Given the description of an element on the screen output the (x, y) to click on. 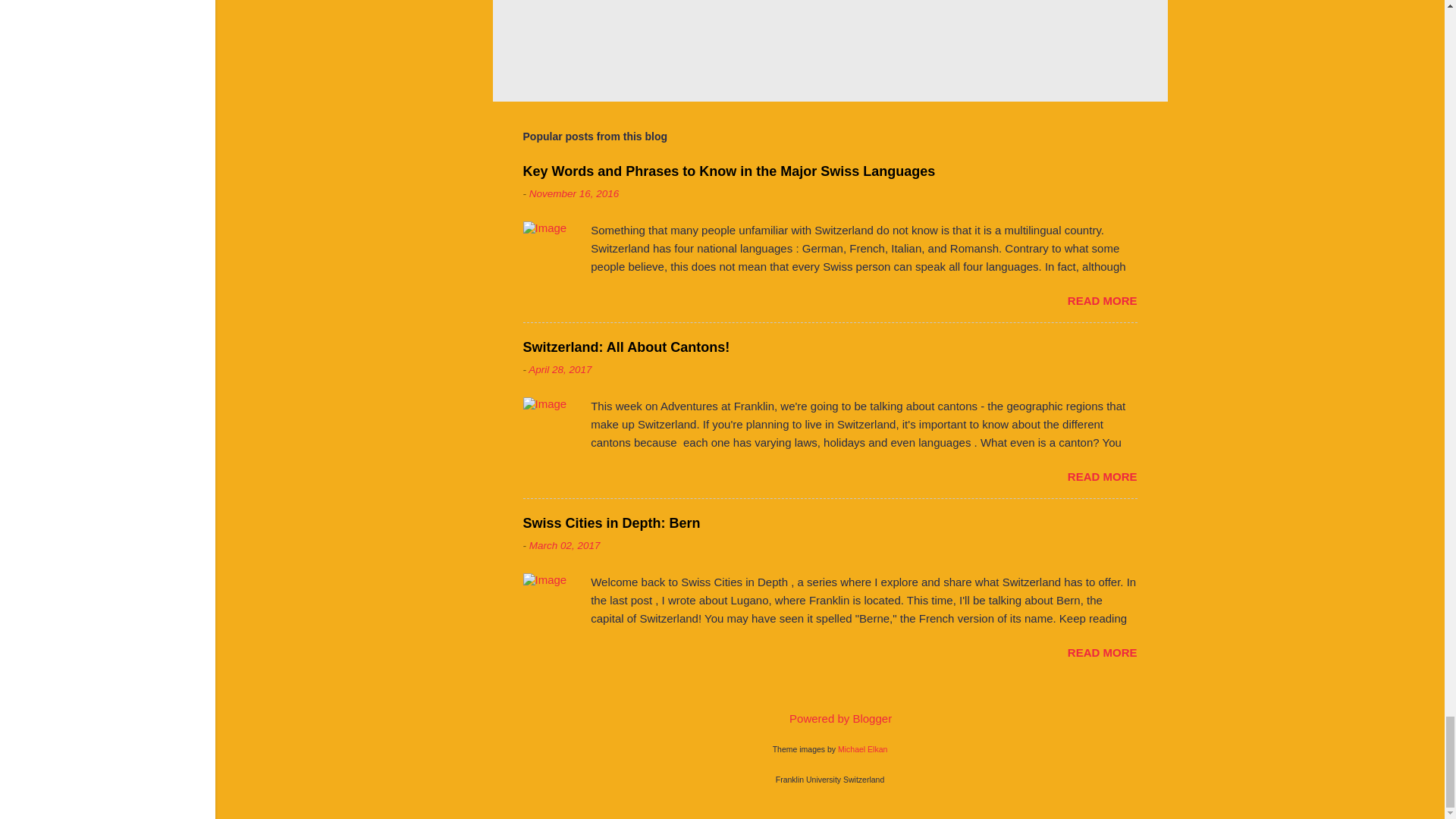
April 28, 2017 (559, 369)
READ MORE (1102, 300)
permanent link (574, 193)
Key Words and Phrases to Know in the Major Swiss Languages (729, 171)
November 16, 2016 (574, 193)
Switzerland: All About Cantons! (626, 346)
